Given the description of an element on the screen output the (x, y) to click on. 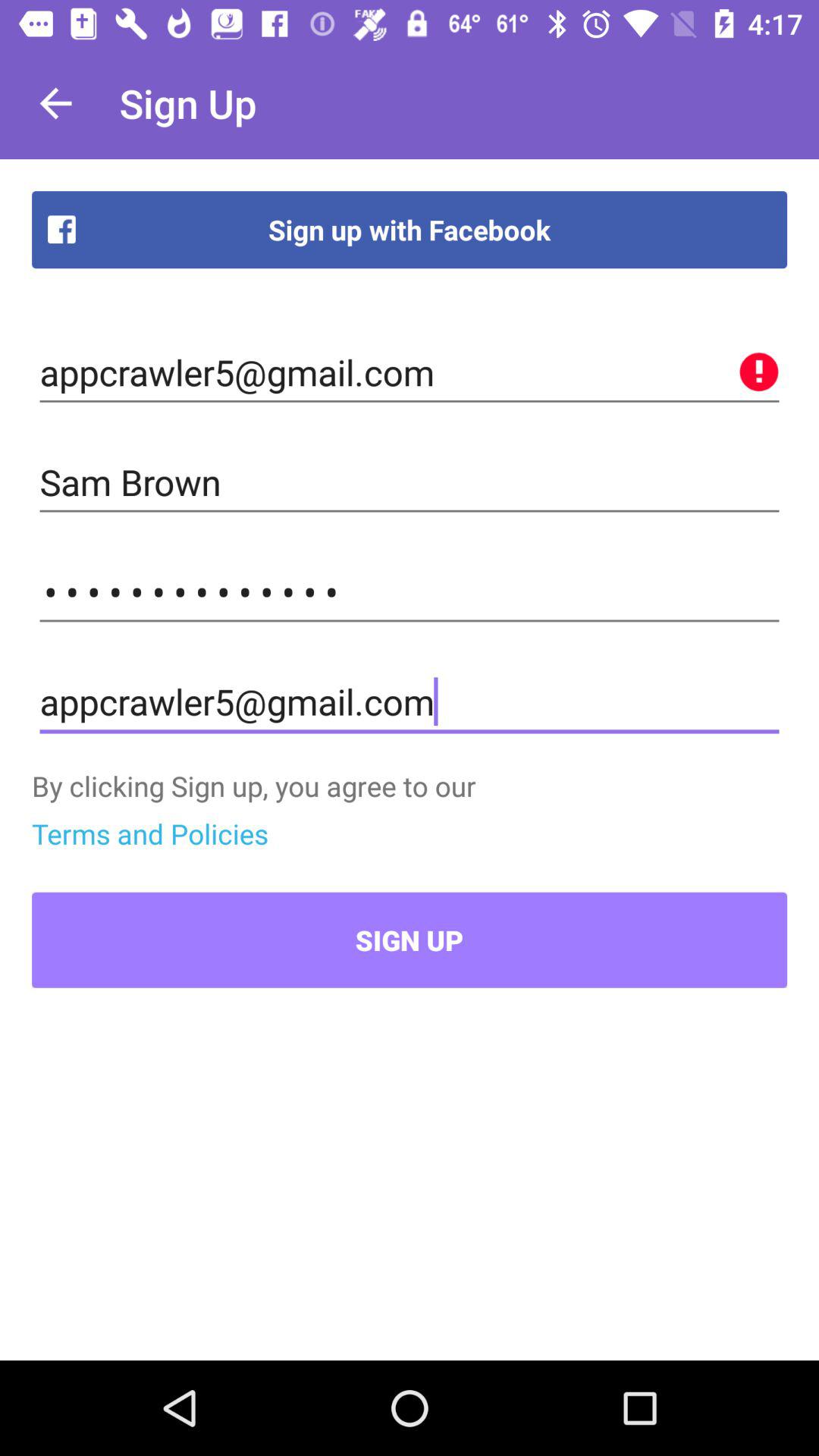
turn off the item above the appcrawler5@gmail.com (409, 592)
